Given the description of an element on the screen output the (x, y) to click on. 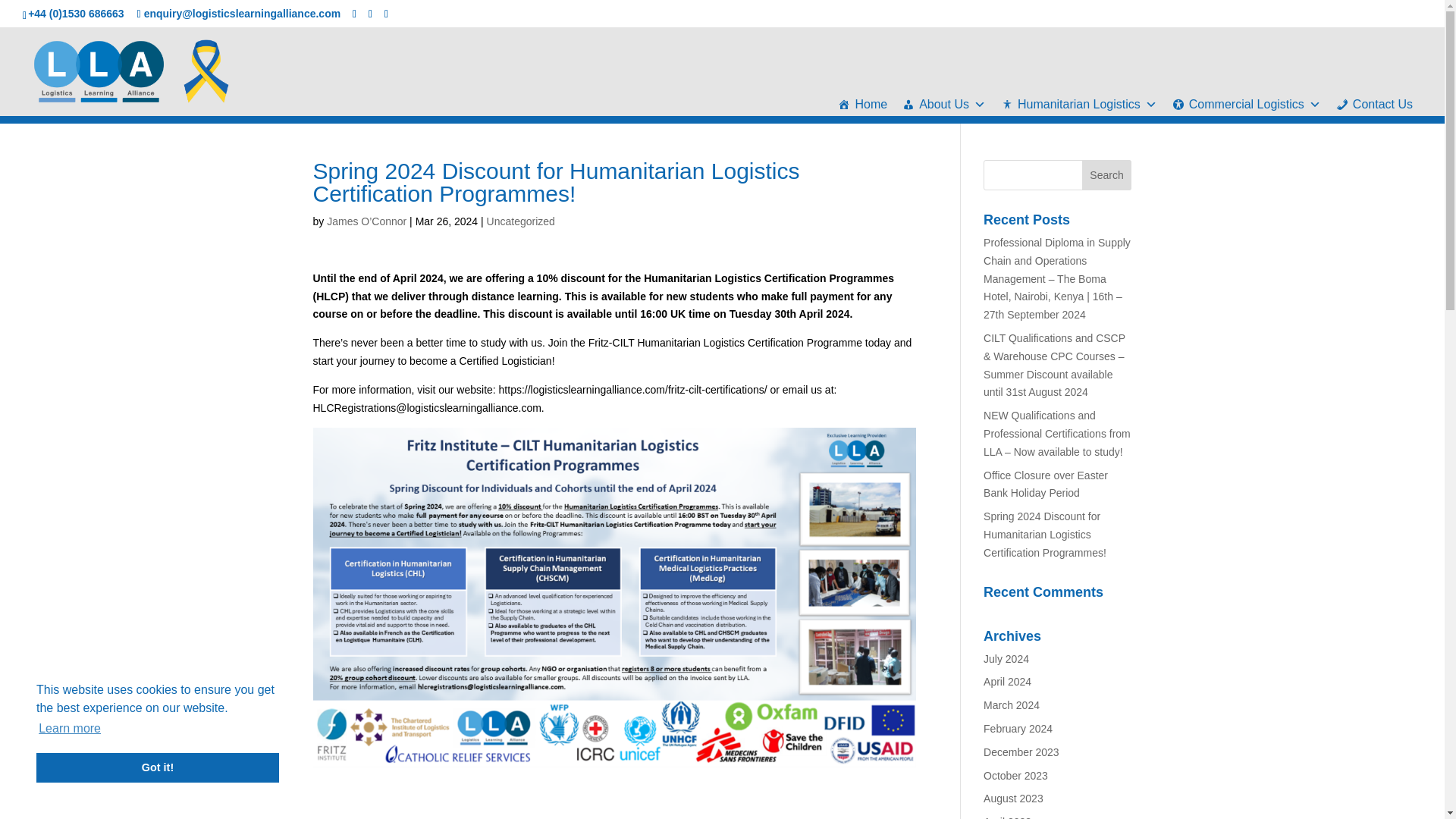
About Us (943, 104)
Search (1106, 174)
Got it! (157, 767)
Learn more (69, 728)
Commercial Logistics (1245, 104)
Home (862, 104)
Humanitarian Logistics (1078, 104)
